Given the description of an element on the screen output the (x, y) to click on. 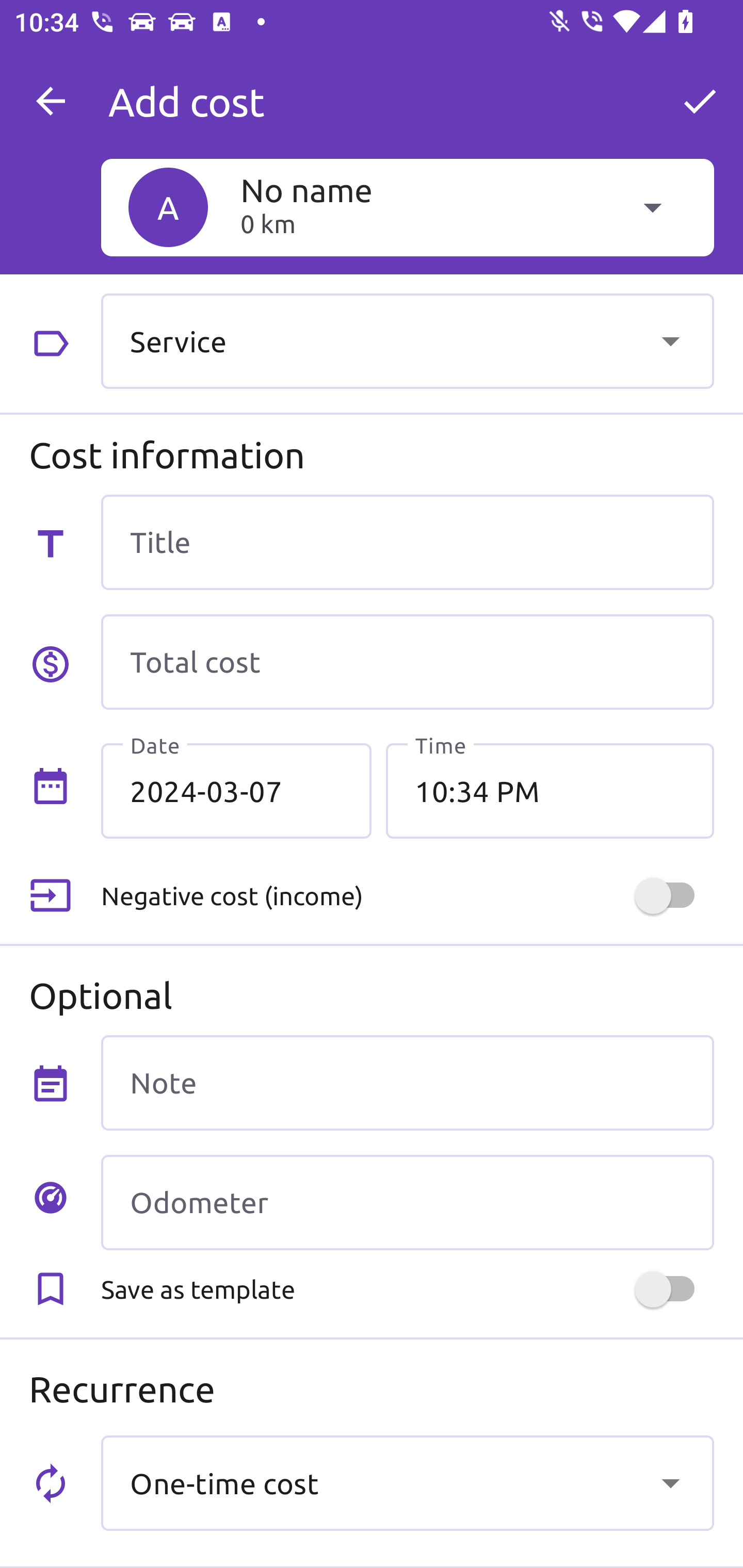
Navigate up (50, 101)
OK (699, 101)
A No name 0 km (407, 206)
Service (407, 340)
Show dropdown menu (670, 340)
Title (407, 541)
Total cost  (407, 662)
2024-03-07 (236, 790)
10:34 PM (549, 790)
Negative cost (income) (407, 895)
Note (407, 1082)
Odometer (407, 1202)
Save as template (407, 1289)
One-time cost (407, 1482)
Show dropdown menu (670, 1482)
